Given the description of an element on the screen output the (x, y) to click on. 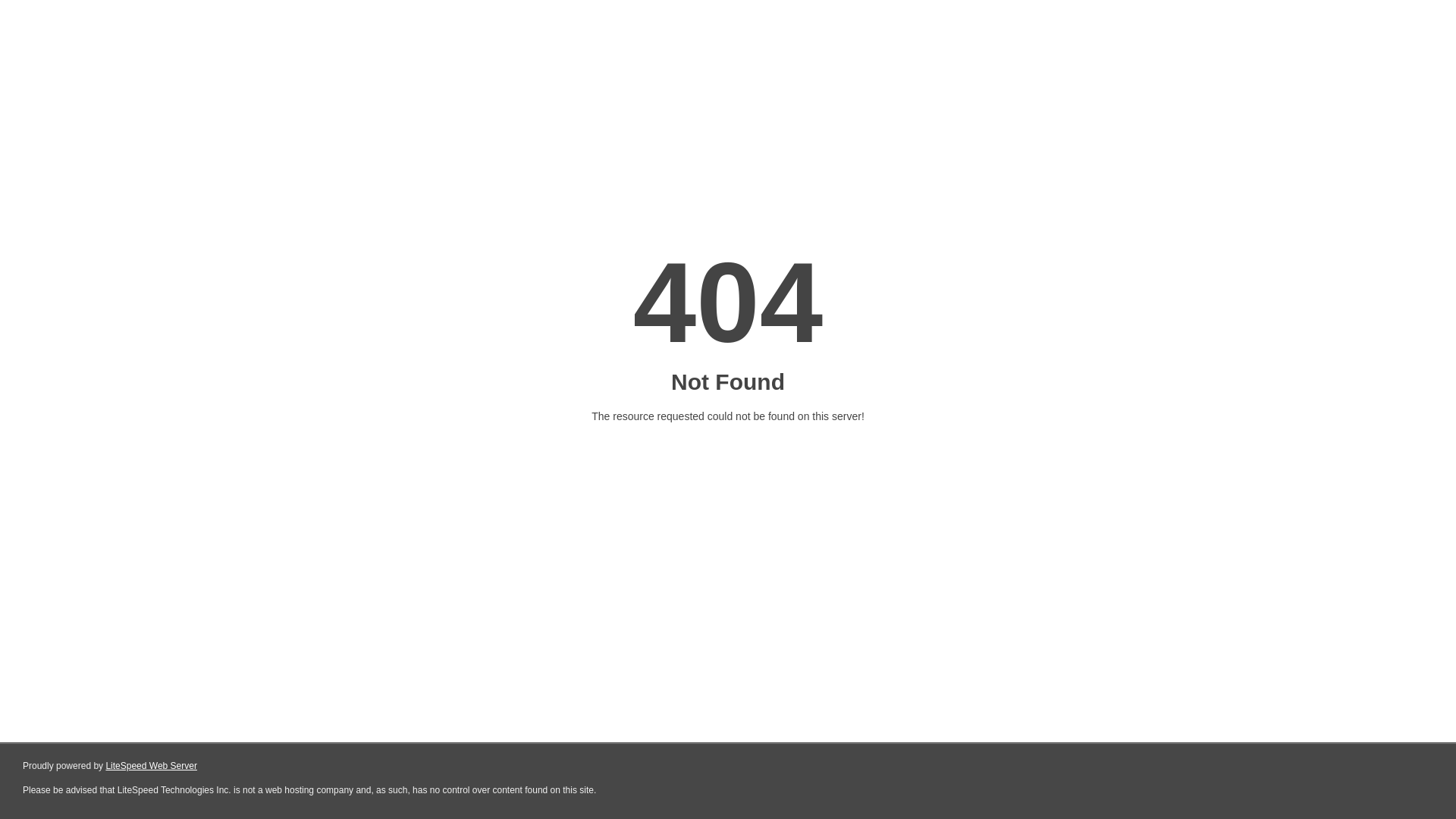
LiteSpeed Web Server Element type: text (151, 765)
